Given the description of an element on the screen output the (x, y) to click on. 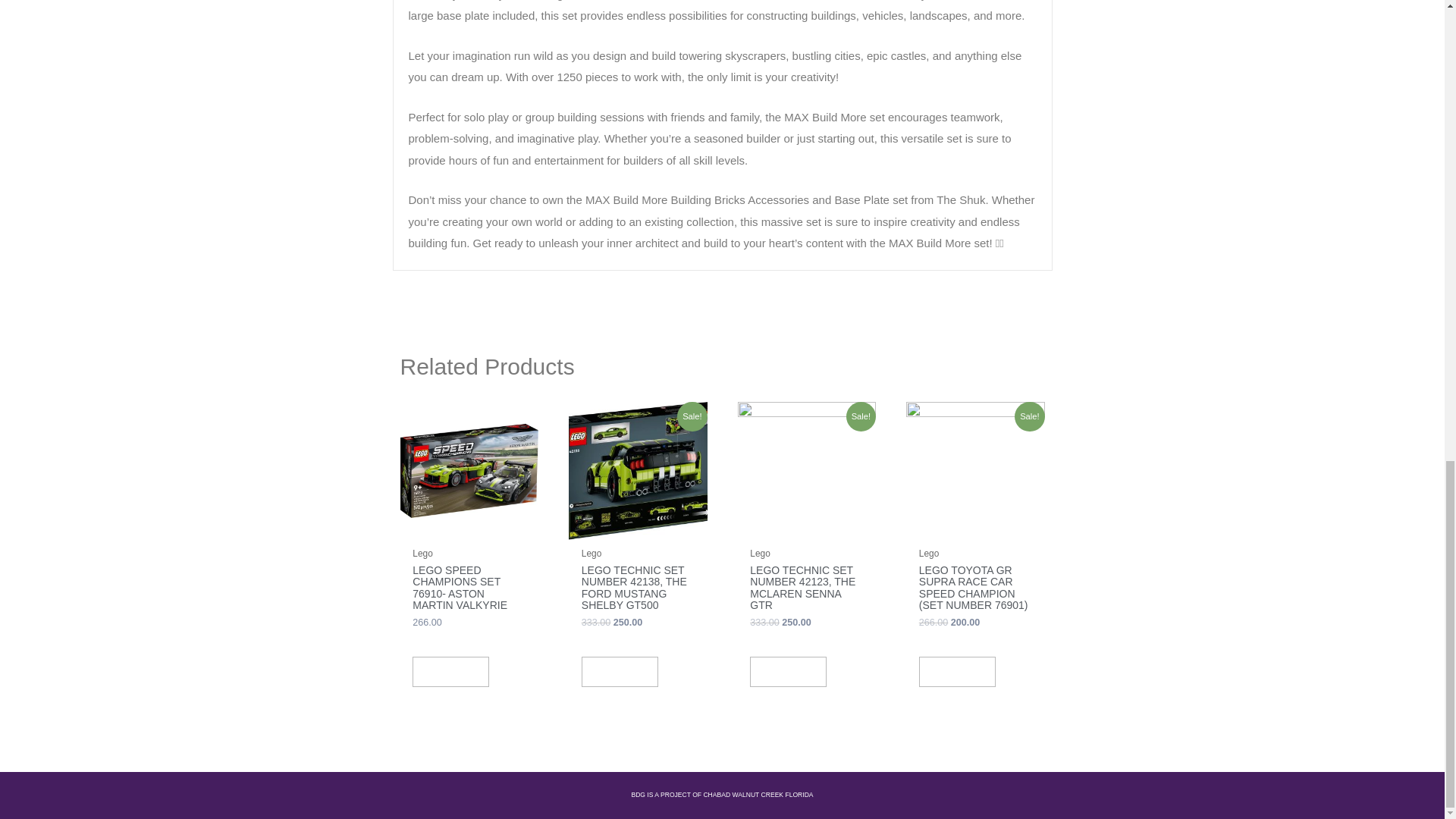
Add To Cart (450, 671)
LEGO TECHNIC SET NUMBER 42123, THE MCLAREN SENNA GTR (806, 591)
Add To Cart (788, 671)
LEGO SPEED CHAMPIONS SET 76910- ASTON MARTIN VALKYRIE (468, 591)
LEGO TECHNIC SET NUMBER 42138, THE FORD MUSTANG SHELBY GT500 (637, 591)
Add To Cart (619, 671)
